Given the description of an element on the screen output the (x, y) to click on. 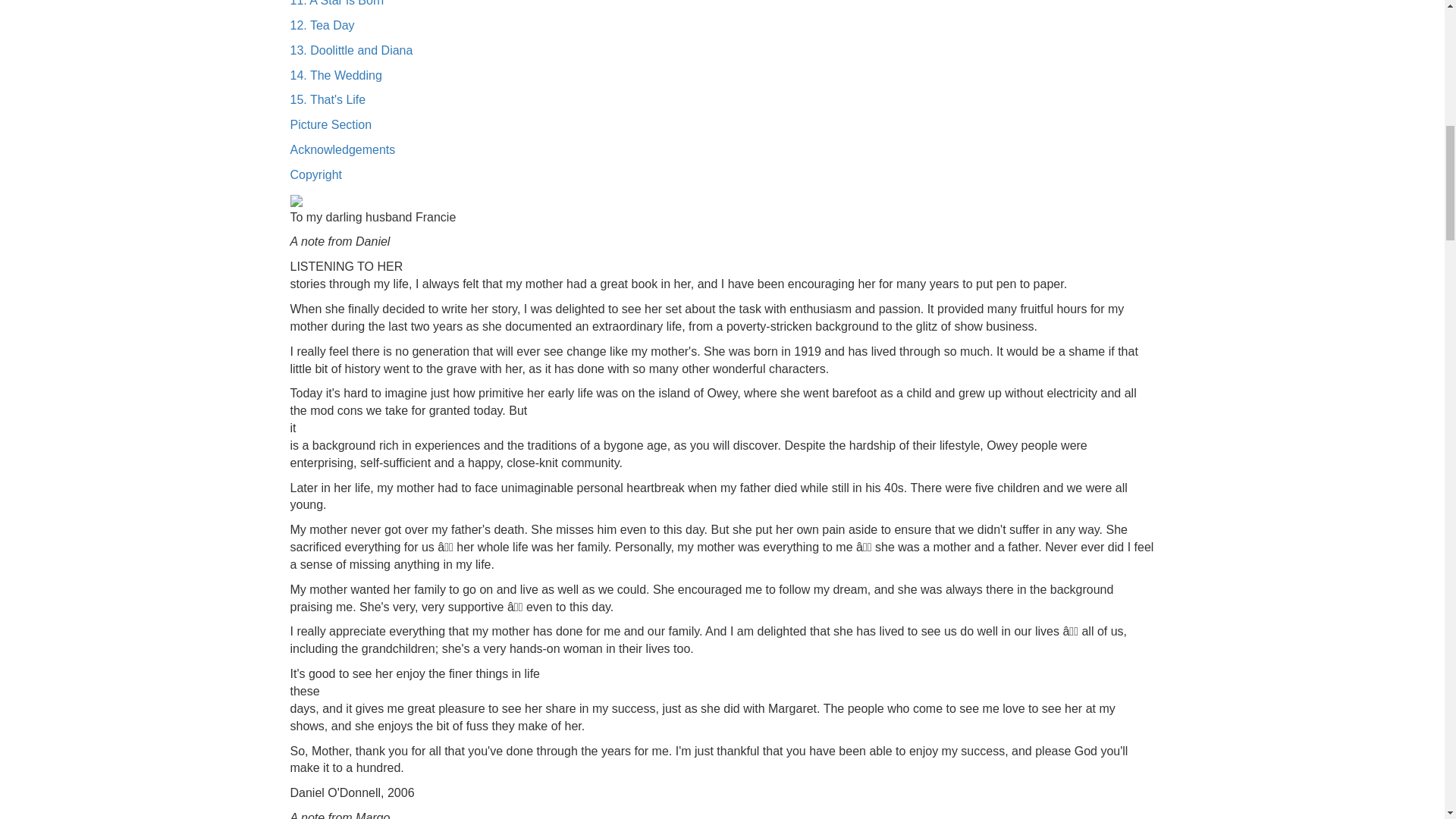
11. A Star is Born (336, 3)
12. Tea Day (321, 24)
13. Doolittle and Diana (350, 50)
